Given the description of an element on the screen output the (x, y) to click on. 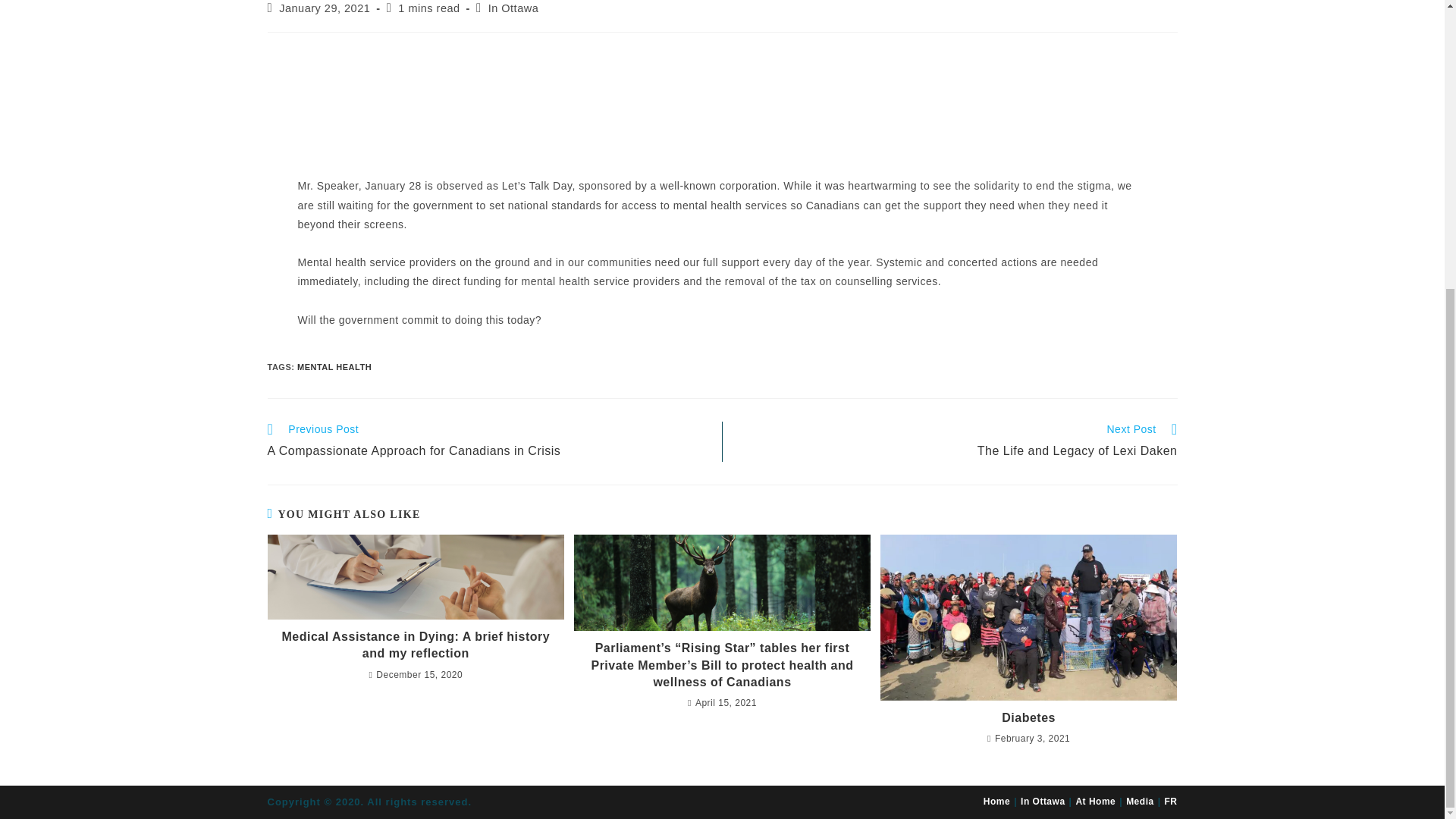
In Ottawa (512, 8)
Media (1139, 801)
FR (1170, 801)
At Home (1095, 801)
In Ottawa (1042, 801)
Diabetes (1029, 718)
Home (997, 801)
